Given the description of an element on the screen output the (x, y) to click on. 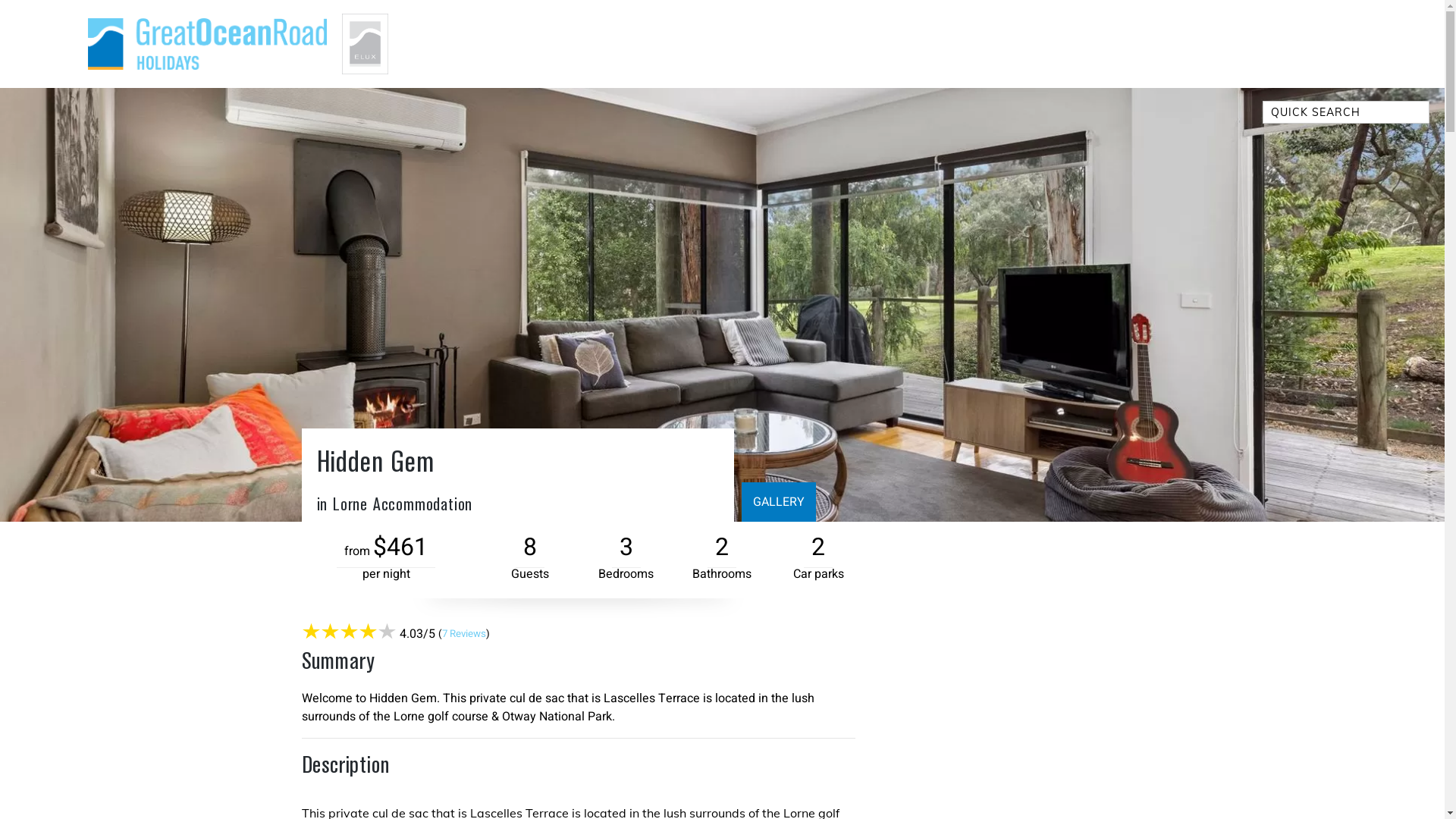
7 Reviews Element type: text (463, 633)
GALLERY Element type: text (778, 501)
